Given the description of an element on the screen output the (x, y) to click on. 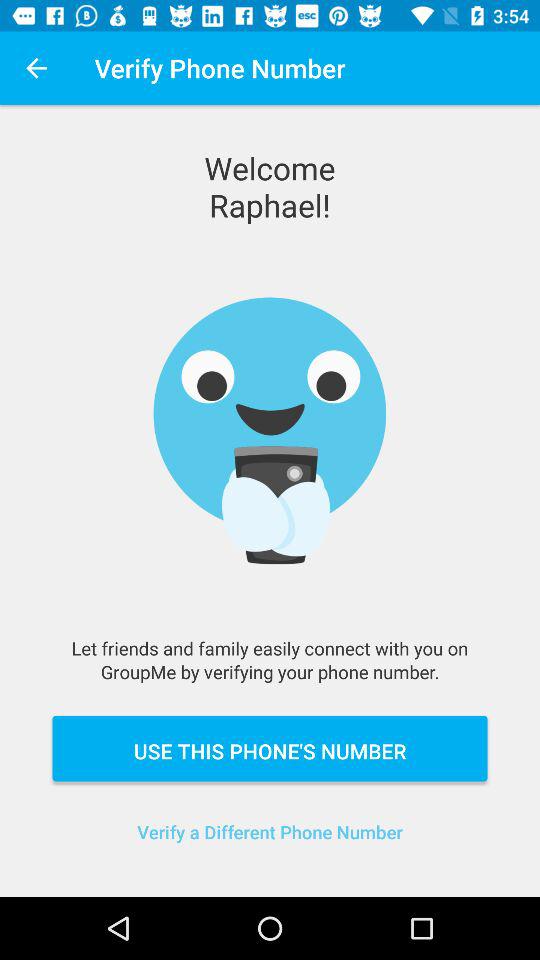
swipe to the use this phone item (269, 748)
